Given the description of an element on the screen output the (x, y) to click on. 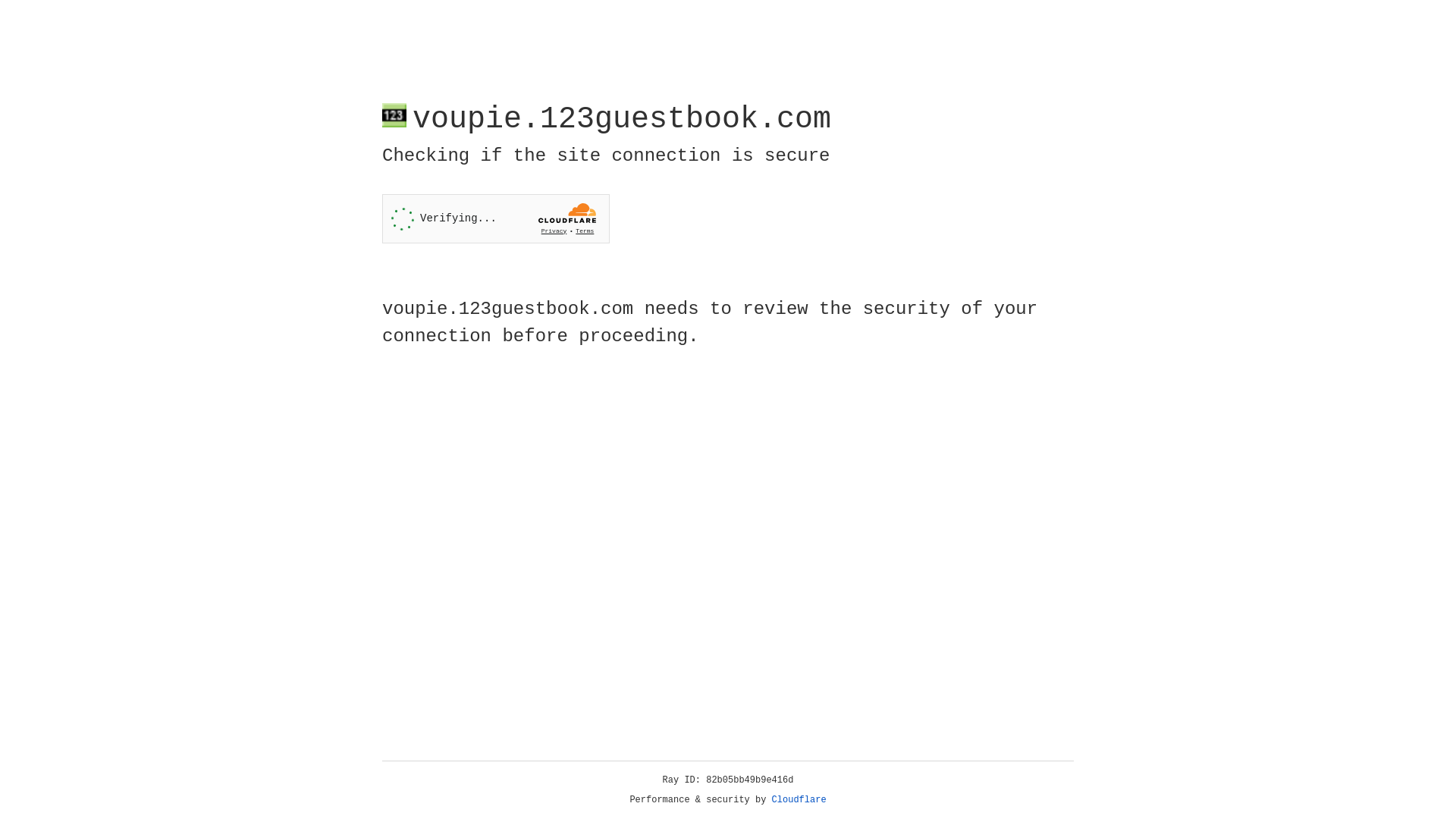
Cloudflare Element type: text (798, 799)
Widget containing a Cloudflare security challenge Element type: hover (495, 218)
